Given the description of an element on the screen output the (x, y) to click on. 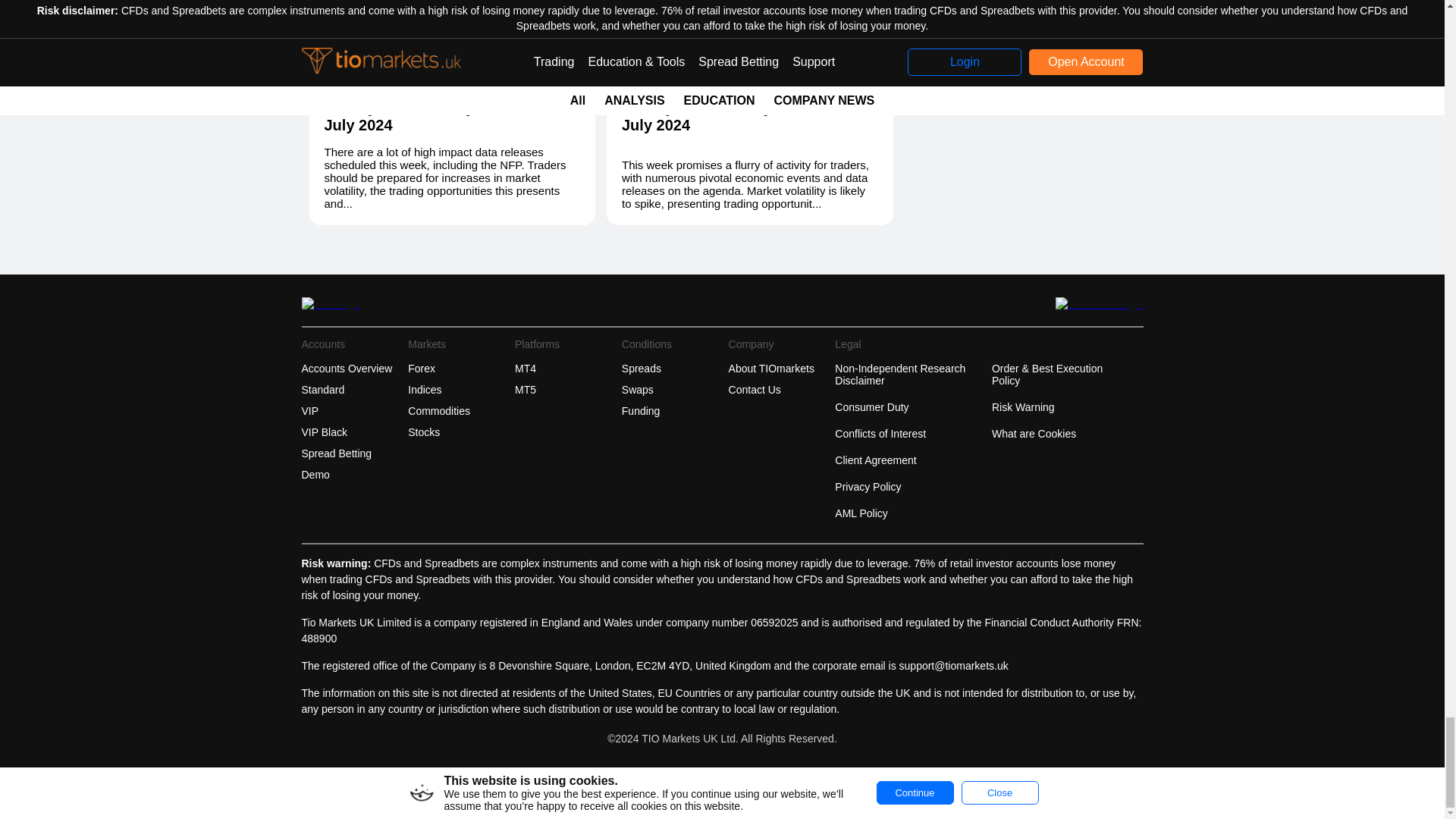
Demo (352, 474)
VIP Black (352, 432)
Stocks (459, 432)
Indices (459, 389)
Forex (459, 368)
Standard (352, 389)
Spread Betting (352, 453)
MT4 (566, 368)
VIP (352, 410)
Accounts Overview (352, 368)
